Given the description of an element on the screen output the (x, y) to click on. 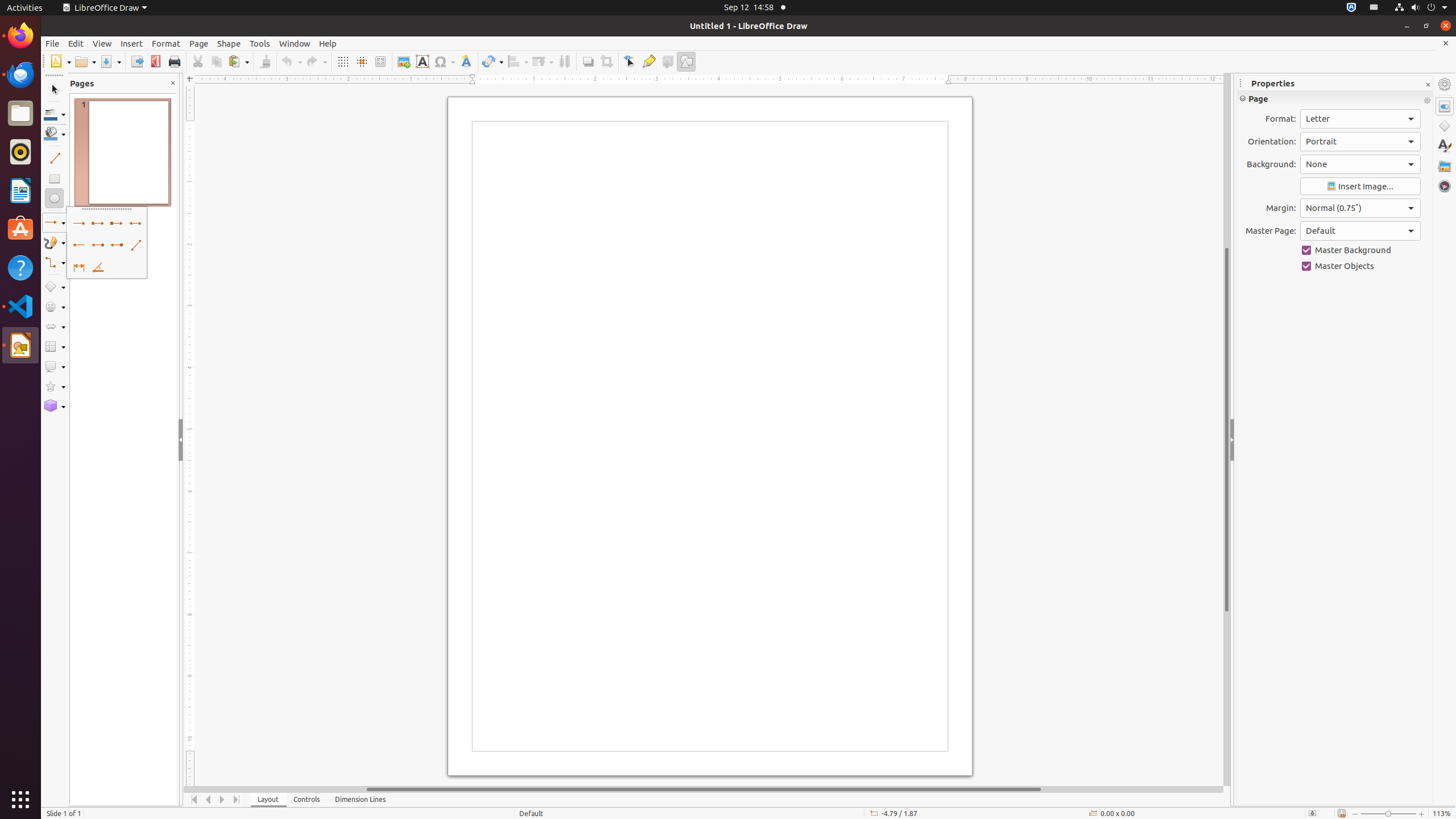
Master Objects Element type: check-box (1360, 265)
Open Element type: push-button (84, 61)
LibreOffice Draw Element type: push-button (20, 344)
Insert Element type: menu (131, 43)
